Given the description of an element on the screen output the (x, y) to click on. 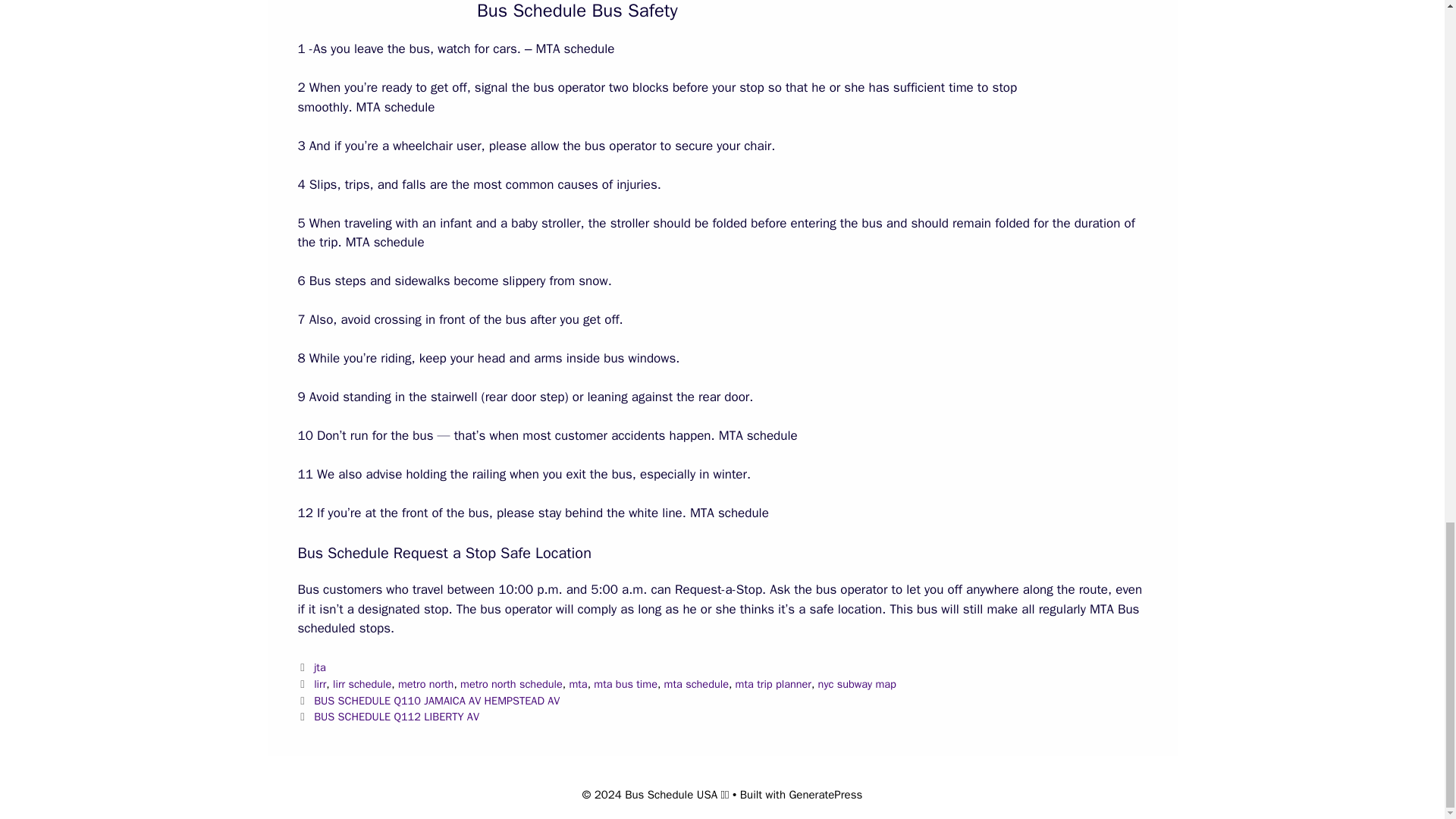
metro north (425, 684)
jta (320, 667)
lirr schedule (362, 684)
lirr (320, 684)
